Given the description of an element on the screen output the (x, y) to click on. 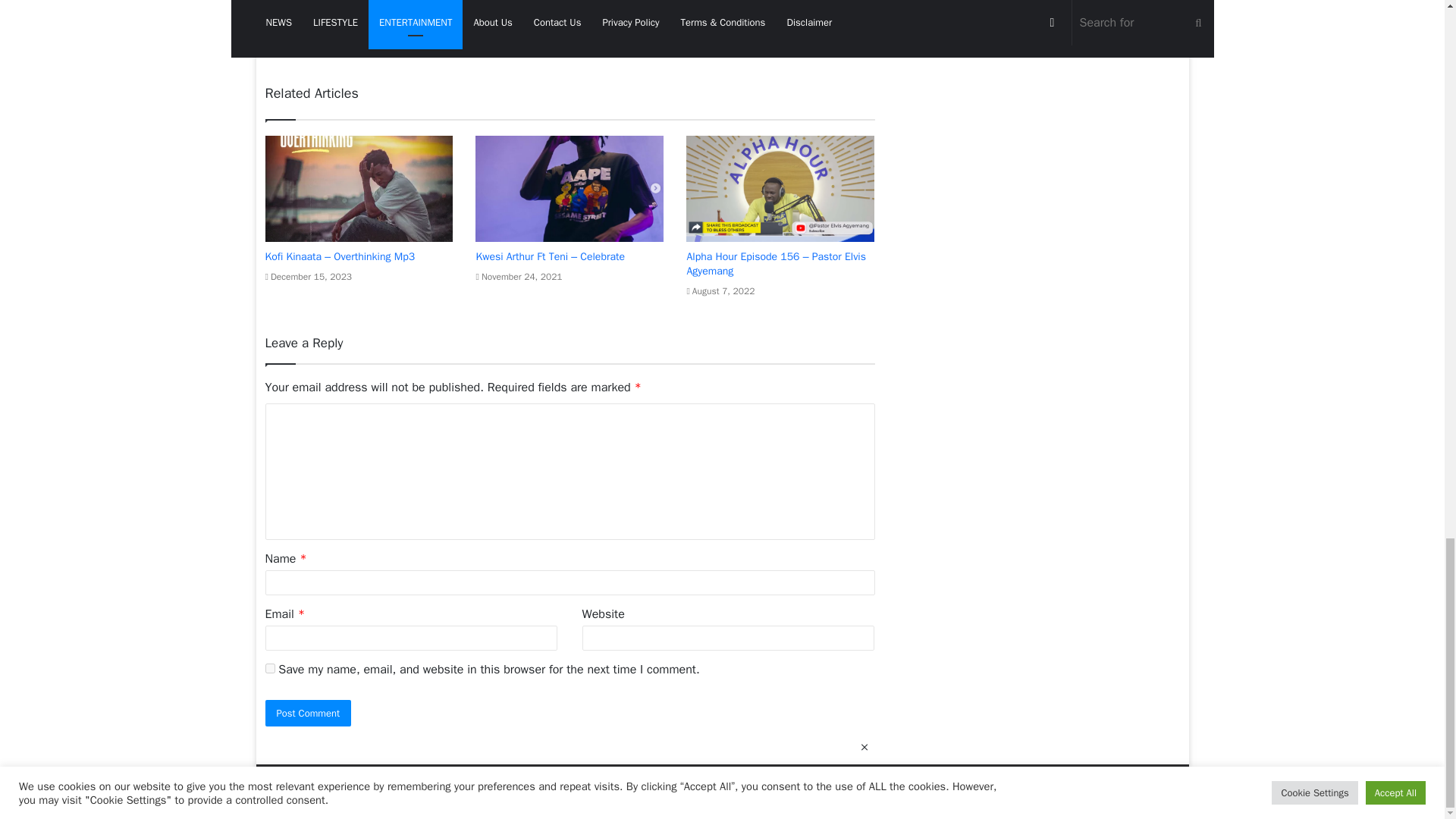
Post Comment (308, 713)
yes (269, 668)
